Given the description of an element on the screen output the (x, y) to click on. 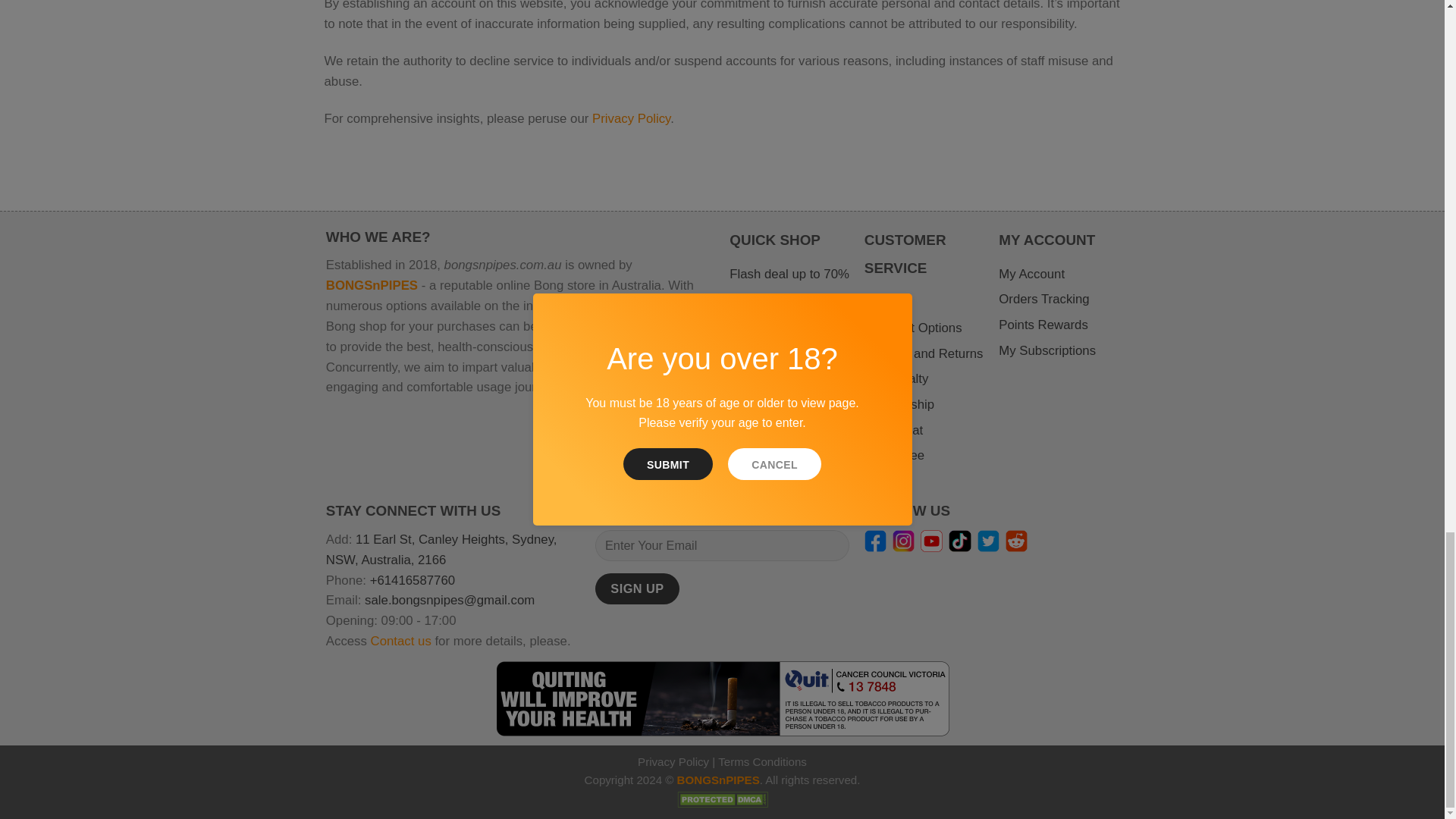
Sign Up (637, 588)
DMCA.com Protection Status (722, 797)
